Given the description of an element on the screen output the (x, y) to click on. 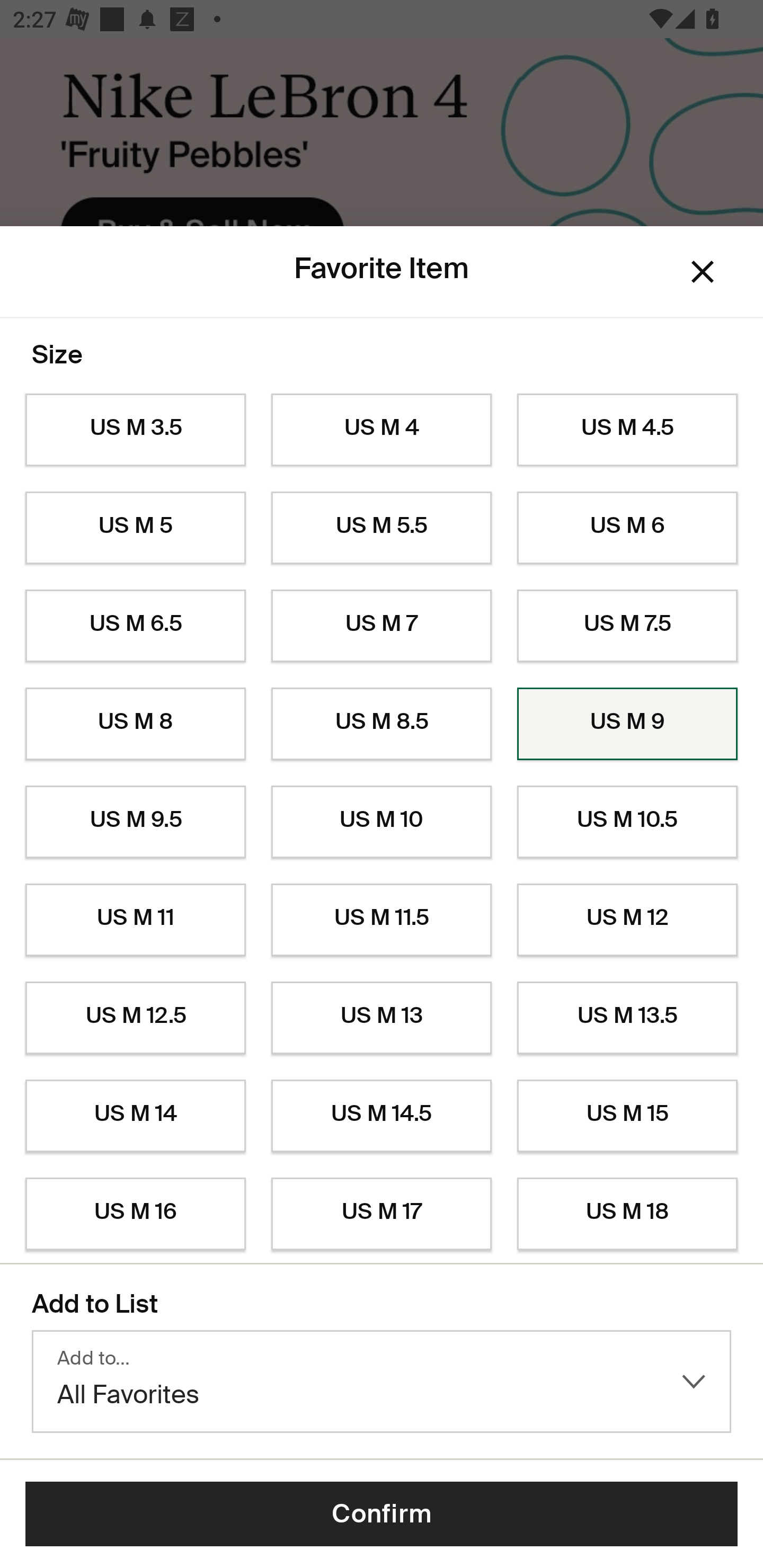
Dismiss (702, 271)
US M 3.5 (135, 430)
US M 4 (381, 430)
US M 4.5 (627, 430)
US M 5 (135, 527)
US M 5.5 (381, 527)
US M 6 (627, 527)
US M 6.5 (135, 626)
US M 7 (381, 626)
US M 7.5 (627, 626)
US M 8 (135, 724)
US M 8.5 (381, 724)
US M 9 (627, 724)
US M 9.5 (135, 822)
US M 10 (381, 822)
US M 10.5 (627, 822)
US M 11 (135, 919)
US M 11.5 (381, 919)
US M 12 (627, 919)
US M 12.5 (135, 1018)
US M 13 (381, 1018)
US M 13.5 (627, 1018)
US M 14 (135, 1116)
US M 14.5 (381, 1116)
US M 15 (627, 1116)
US M 16 (135, 1214)
US M 17 (381, 1214)
US M 18 (627, 1214)
Add to… All Favorites (381, 1381)
Confirm (381, 1513)
